Given the description of an element on the screen output the (x, y) to click on. 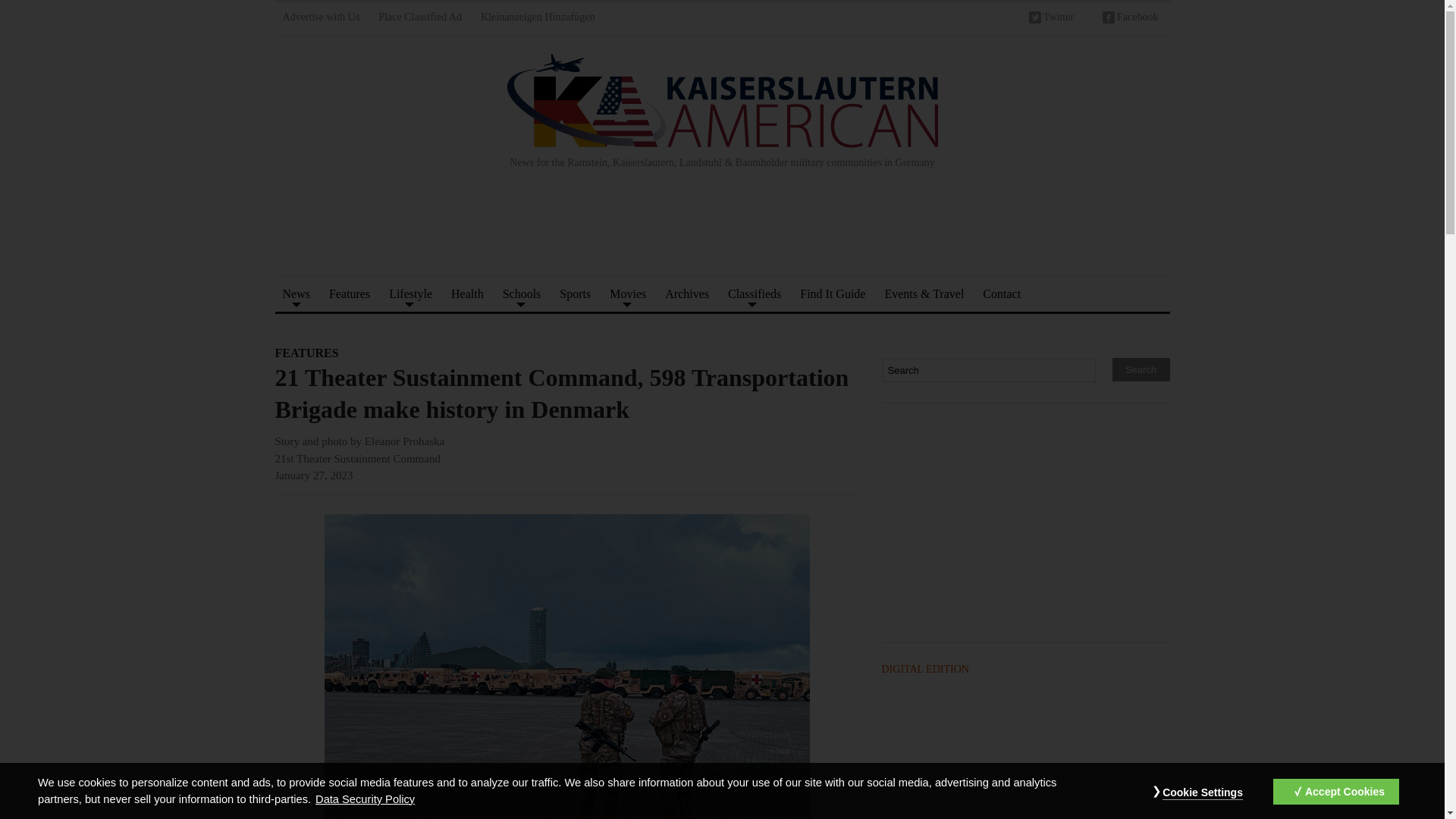
Search (989, 370)
Search (1140, 369)
Sports (574, 294)
3rd party ad content (721, 230)
Place Classified Ad (419, 19)
News (296, 294)
Features (349, 294)
Health (468, 294)
Schools (521, 294)
Facebook (1130, 19)
Lifestyle (410, 294)
Archives (687, 294)
Movies (627, 294)
Twitter (1051, 19)
